Given the description of an element on the screen output the (x, y) to click on. 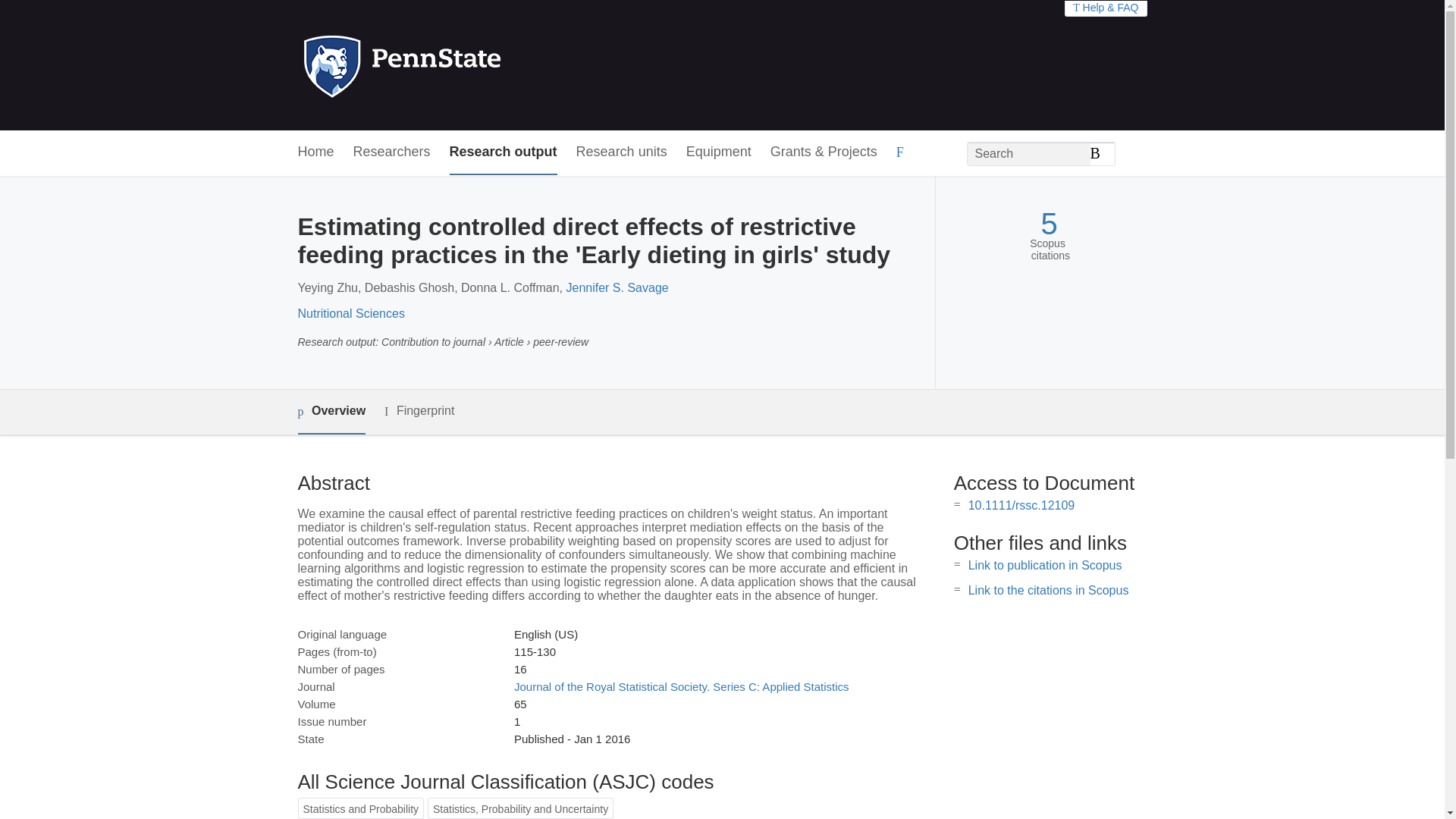
Research units (621, 152)
Link to publication in Scopus (1045, 564)
Research output (503, 152)
Researchers (391, 152)
Penn State Home (467, 65)
Nutritional Sciences (350, 313)
Equipment (718, 152)
Link to the citations in Scopus (1048, 590)
